Given the description of an element on the screen output the (x, y) to click on. 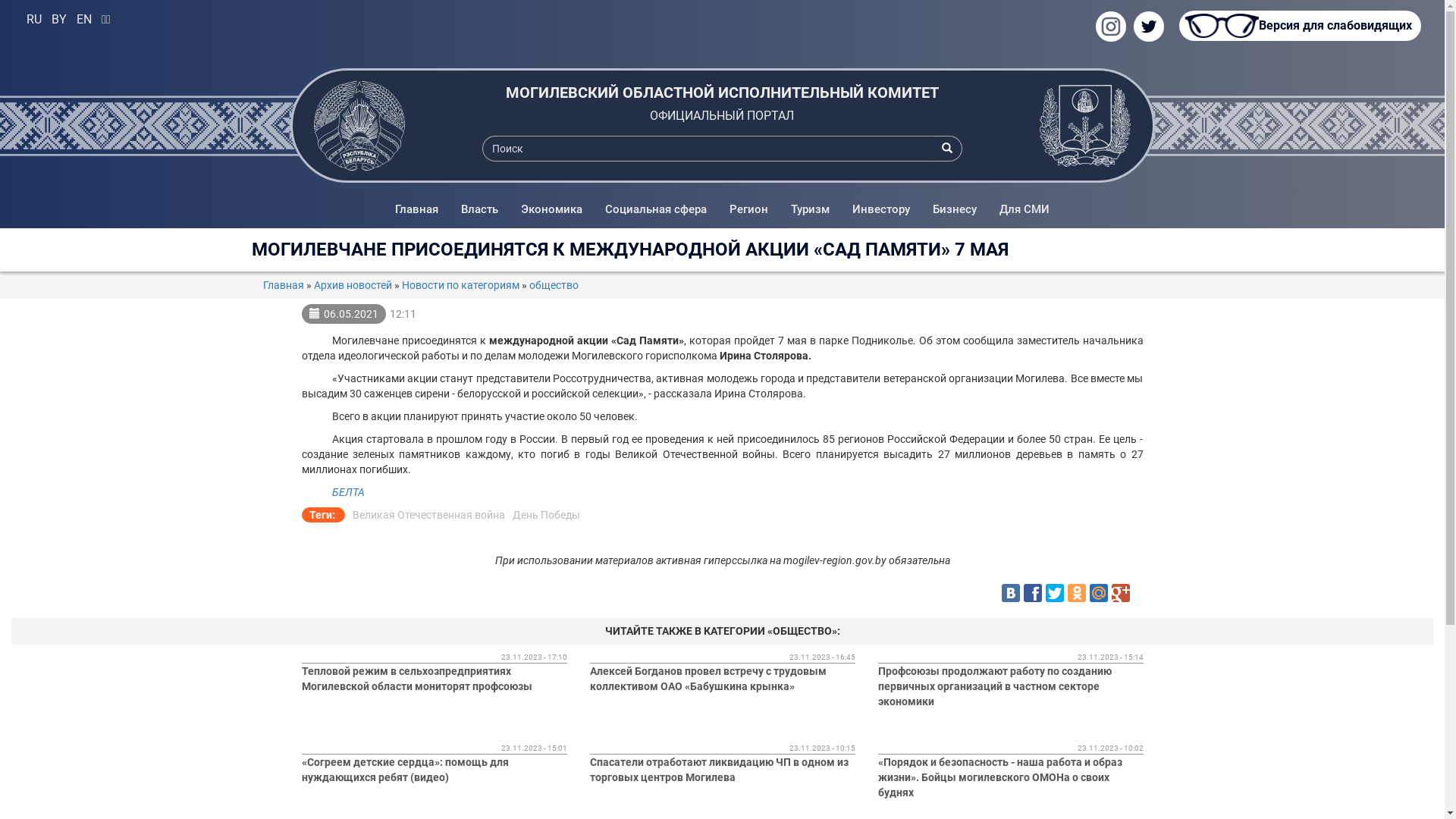
Instagram Element type: hover (1110, 26)
RU Element type: text (33, 19)
Google Plus Element type: hover (1120, 592)
Twitter Element type: hover (1148, 26)
Facebook Element type: hover (1032, 592)
Twitter Element type: hover (1053, 592)
BY Element type: text (58, 19)
EN Element type: text (83, 19)
